Given the description of an element on the screen output the (x, y) to click on. 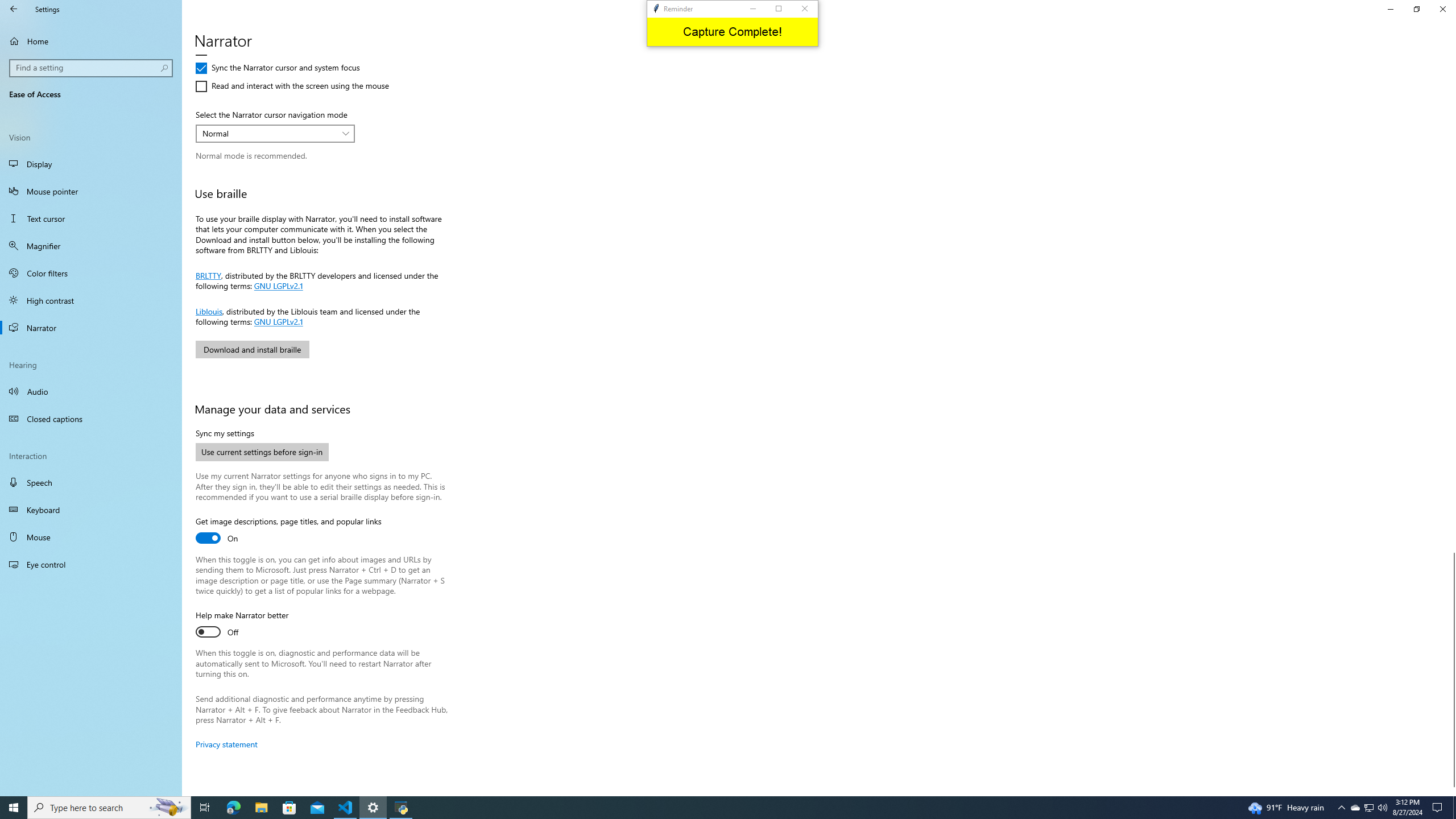
Microsoft Store (289, 807)
Help make Narrator better (241, 625)
Select the Narrator cursor navigation mode (1355, 807)
Type here to search (275, 133)
GNU LGPLv2.1 (108, 807)
Settings - 1 running window (277, 321)
Show the Narrator cursor (373, 807)
Home (247, 31)
Speech (91, 40)
Vertical Small Decrease (91, 482)
